Given the description of an element on the screen output the (x, y) to click on. 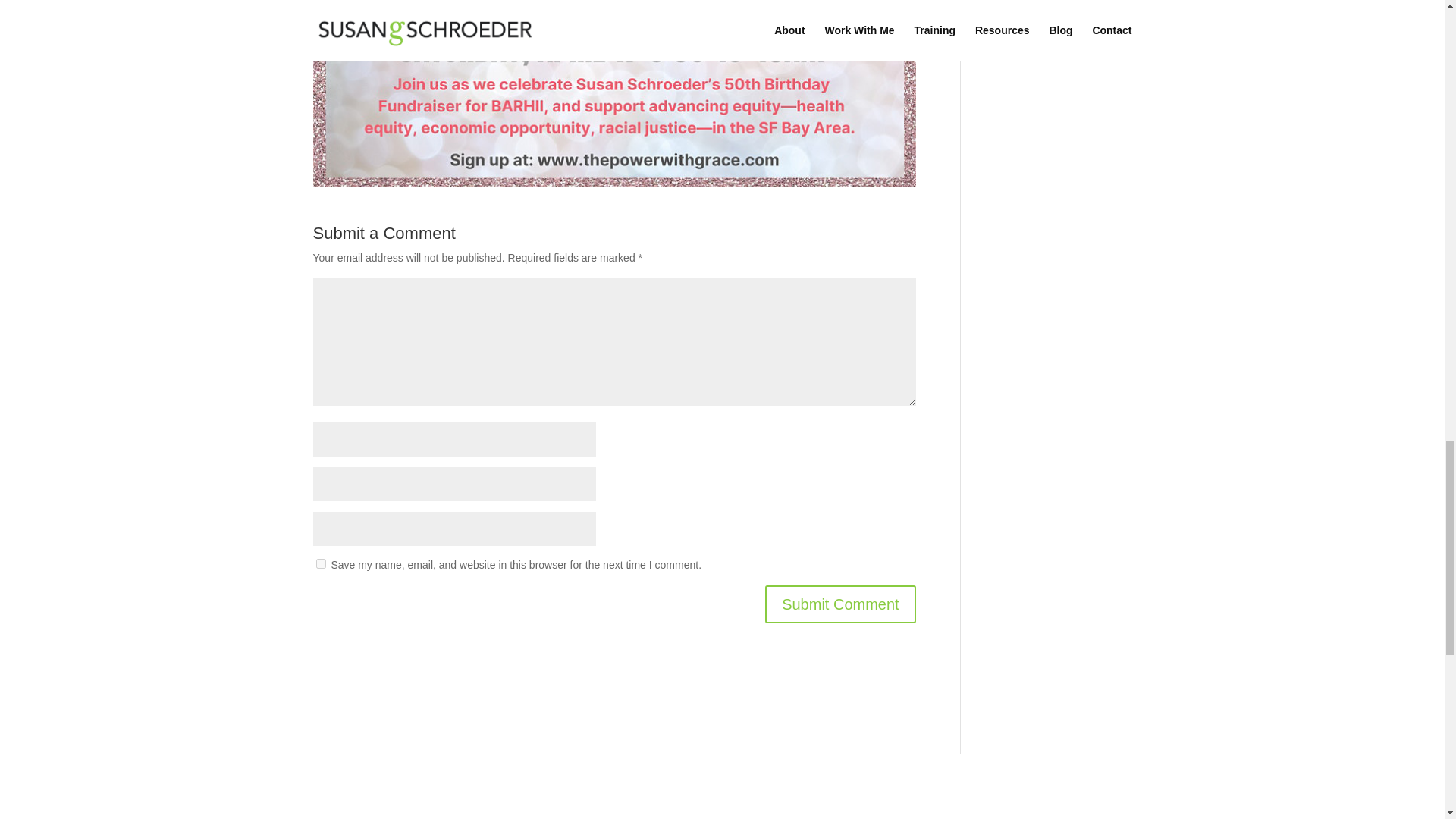
Submit Comment (840, 604)
Submit Comment (840, 604)
yes (319, 563)
